Given the description of an element on the screen output the (x, y) to click on. 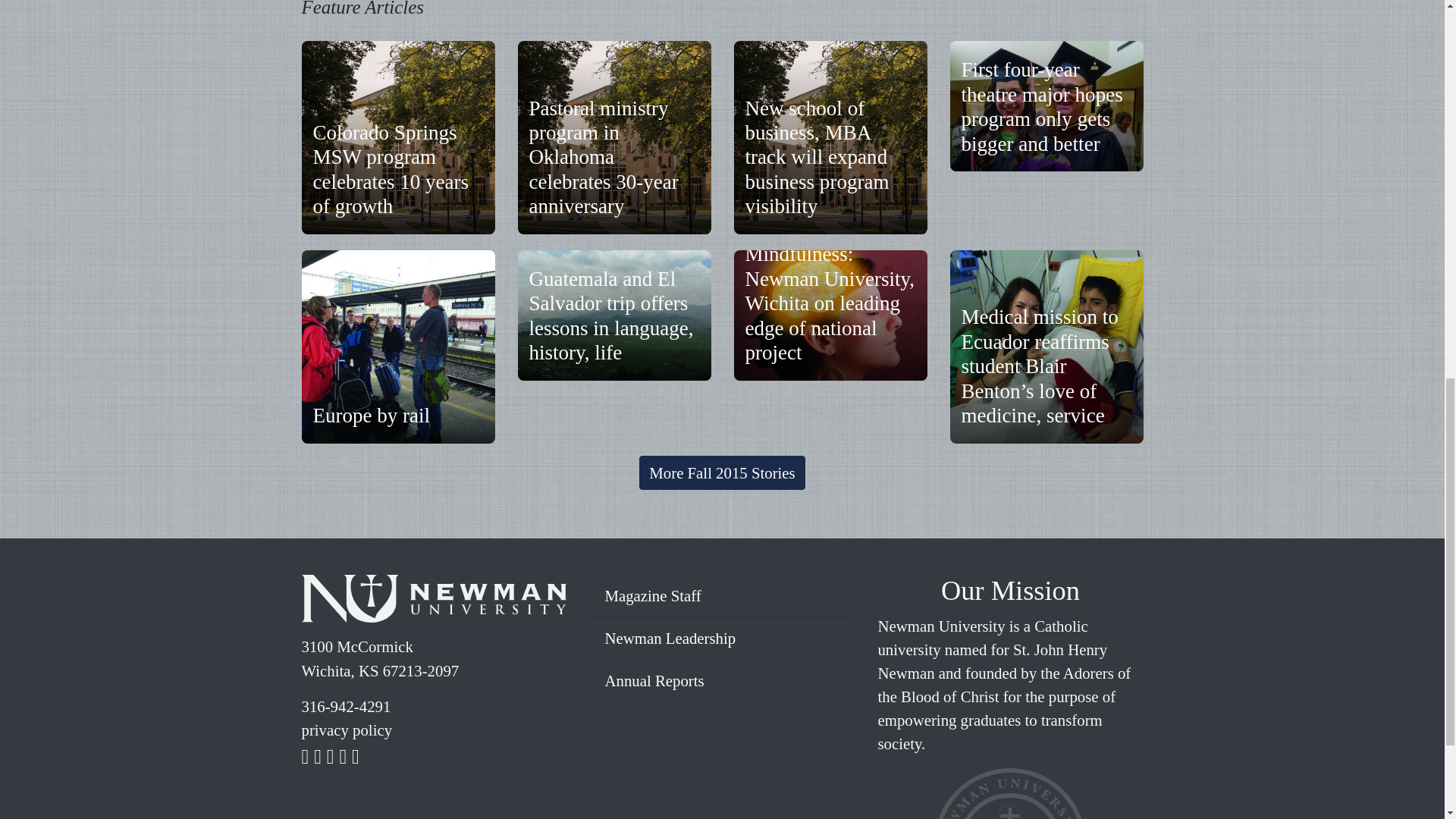
Colorado Springs MSW program celebrates 10 years of growth (390, 169)
Newman University (434, 601)
Europe by rail (371, 415)
